Given the description of an element on the screen output the (x, y) to click on. 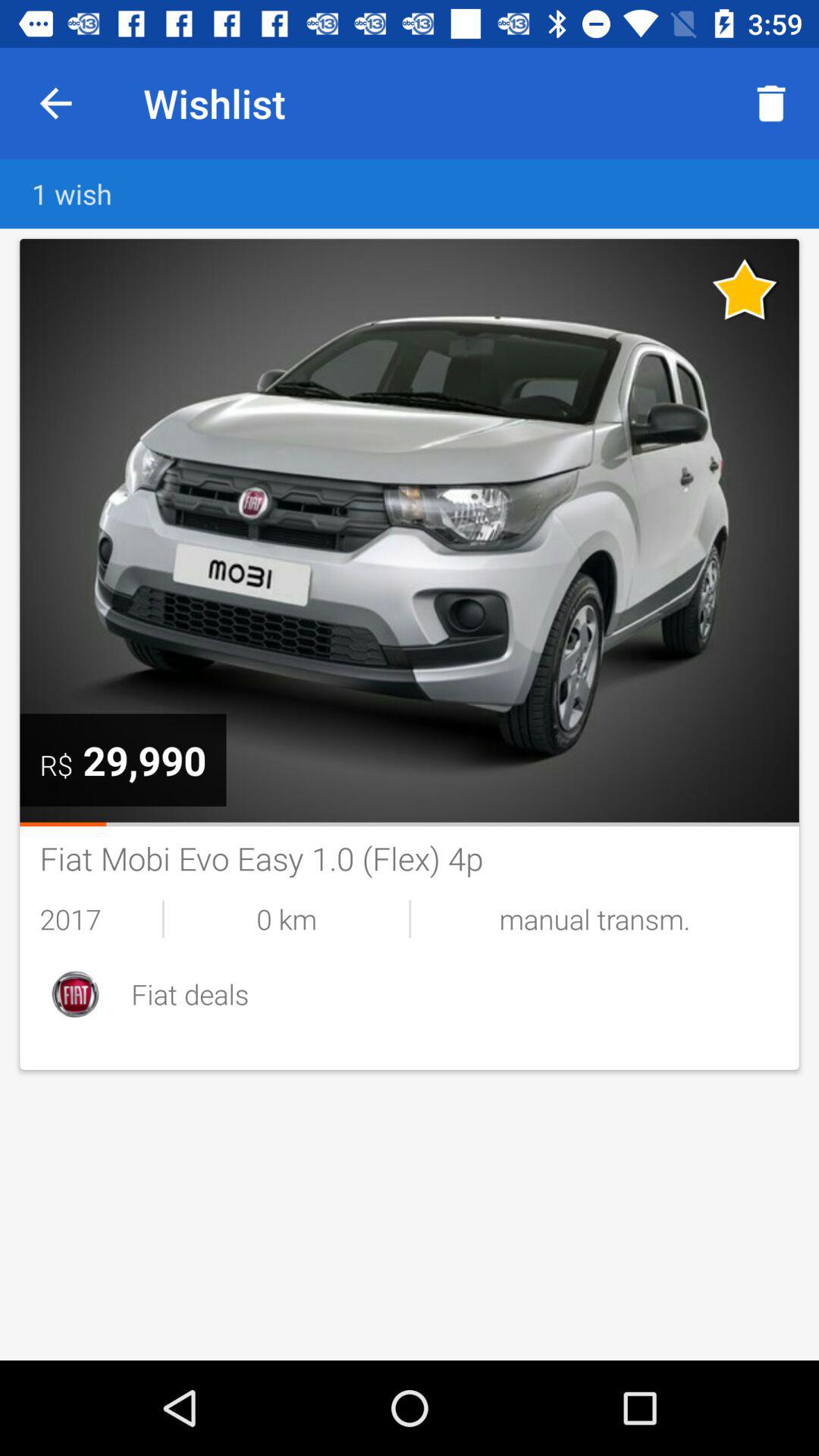
swipe until manual transm. (595, 918)
